Given the description of an element on the screen output the (x, y) to click on. 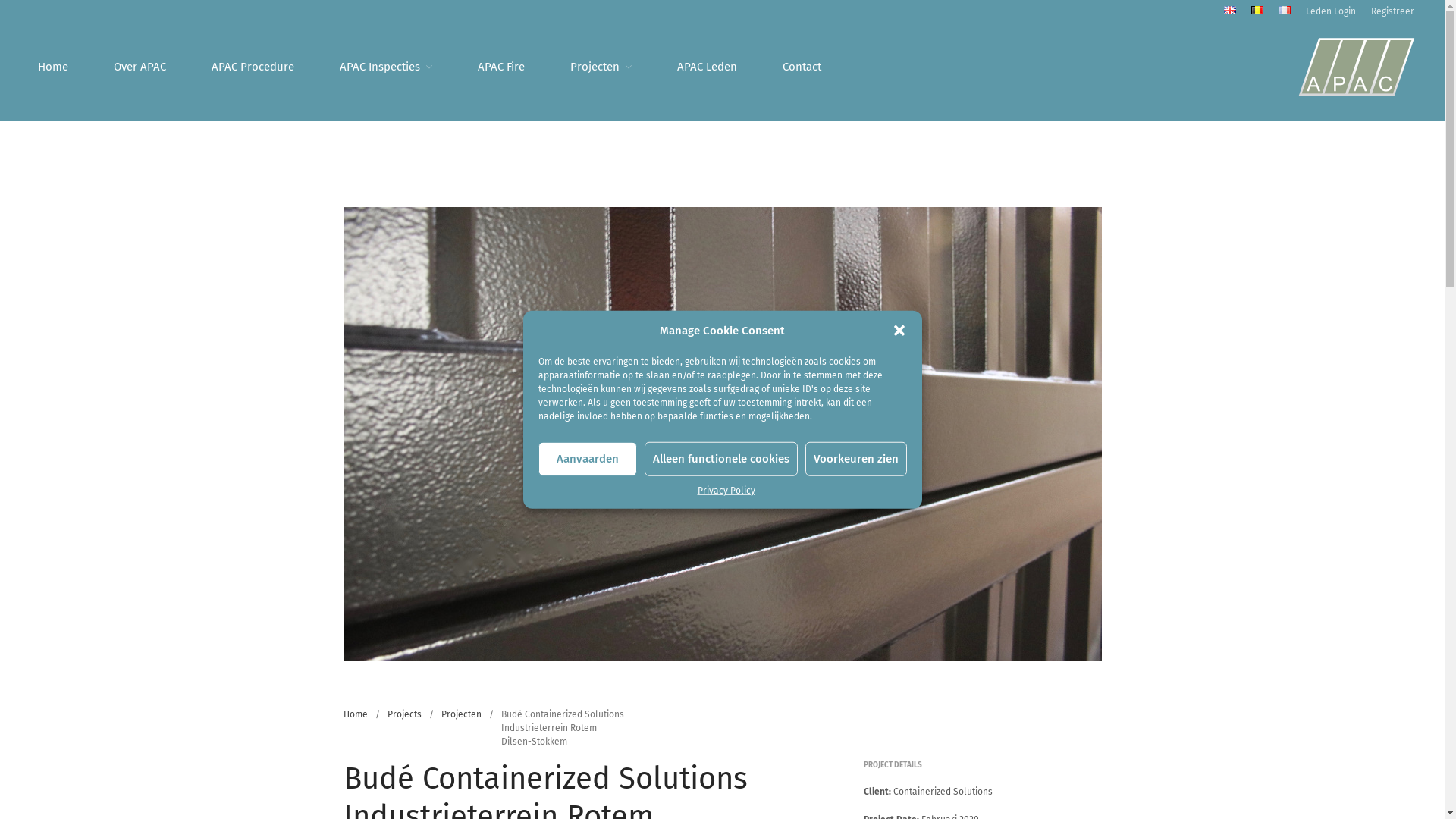
Home Element type: text (52, 66)
Privacy Policy Element type: text (726, 489)
Projects Element type: text (403, 714)
Registreer Element type: text (1392, 11)
Voorkeuren zien Element type: text (855, 458)
Leden Login Element type: text (1330, 11)
APAC Leden Element type: text (706, 66)
Over APAC Element type: text (139, 66)
Contact Element type: text (801, 66)
Aanvaarden Element type: text (587, 458)
Projecten Element type: text (600, 66)
Alleen functionele cookies Element type: text (720, 458)
Projecten Element type: text (461, 714)
APAC Procedure Element type: text (252, 66)
APAC Inspecties Element type: text (385, 66)
Home Element type: text (354, 714)
APAC Fire Element type: text (501, 66)
